Given the description of an element on the screen output the (x, y) to click on. 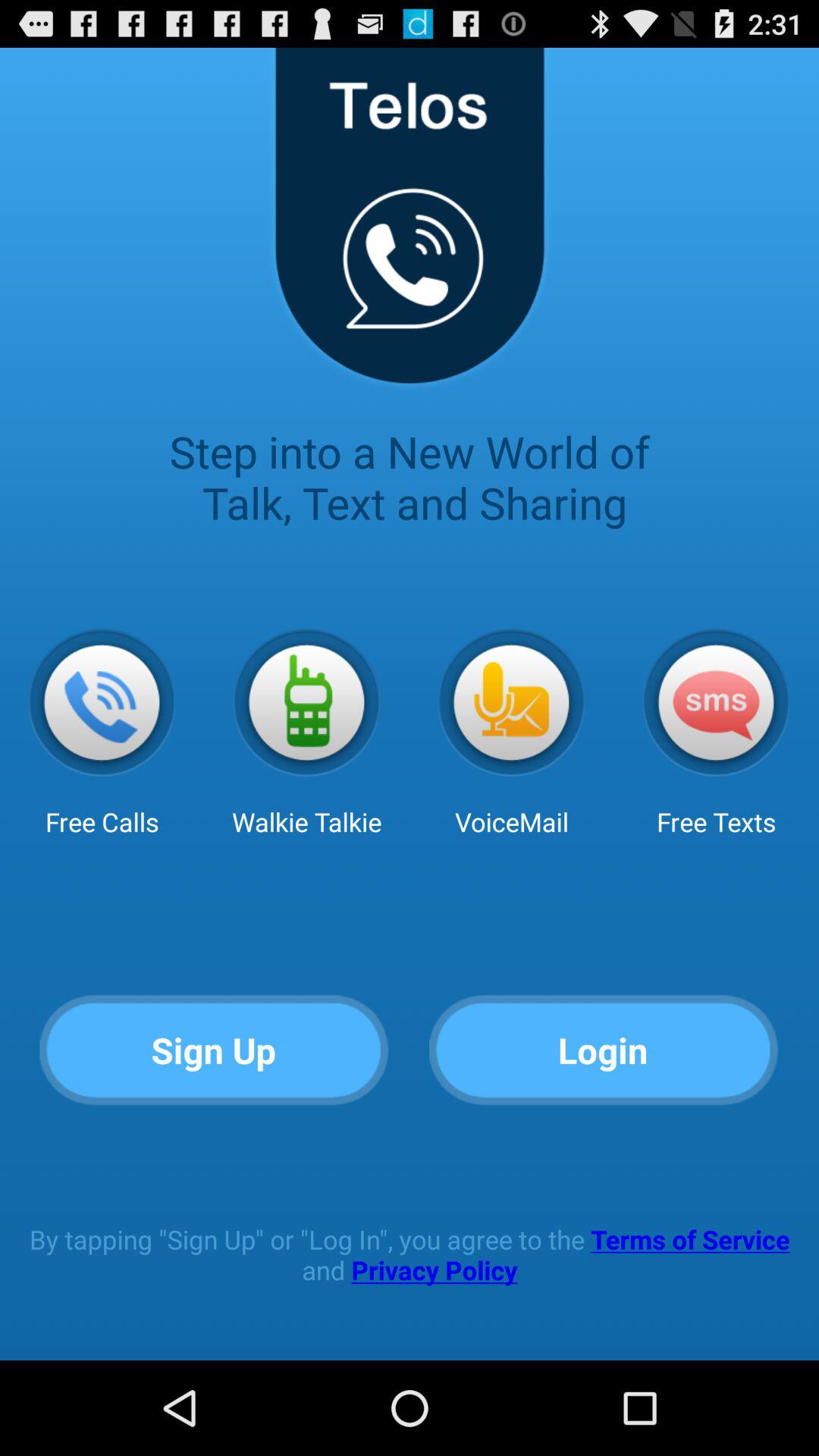
click the item at the bottom right corner (604, 1050)
